Given the description of an element on the screen output the (x, y) to click on. 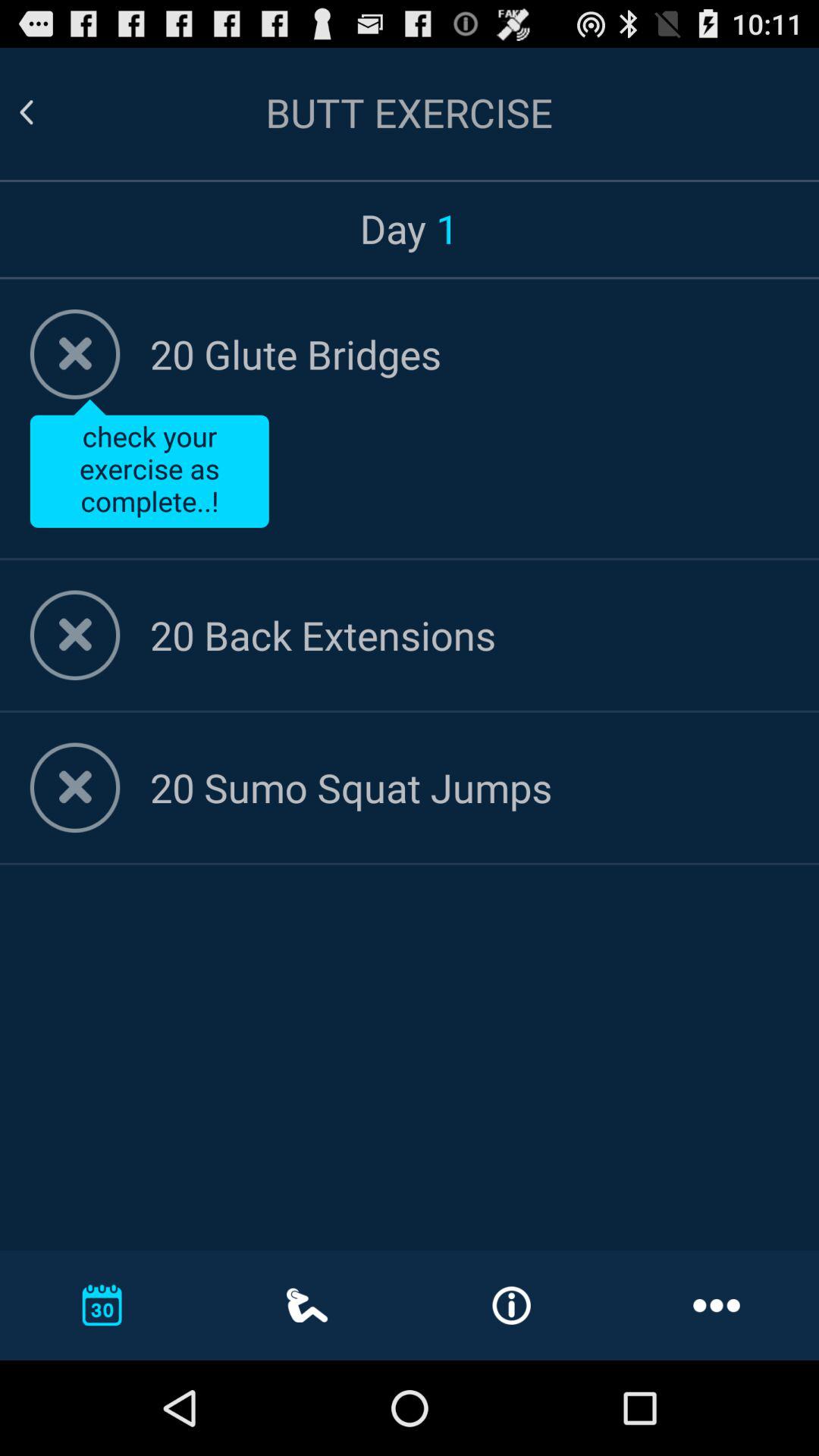
mark the exercise as completed (75, 787)
